Given the description of an element on the screen output the (x, y) to click on. 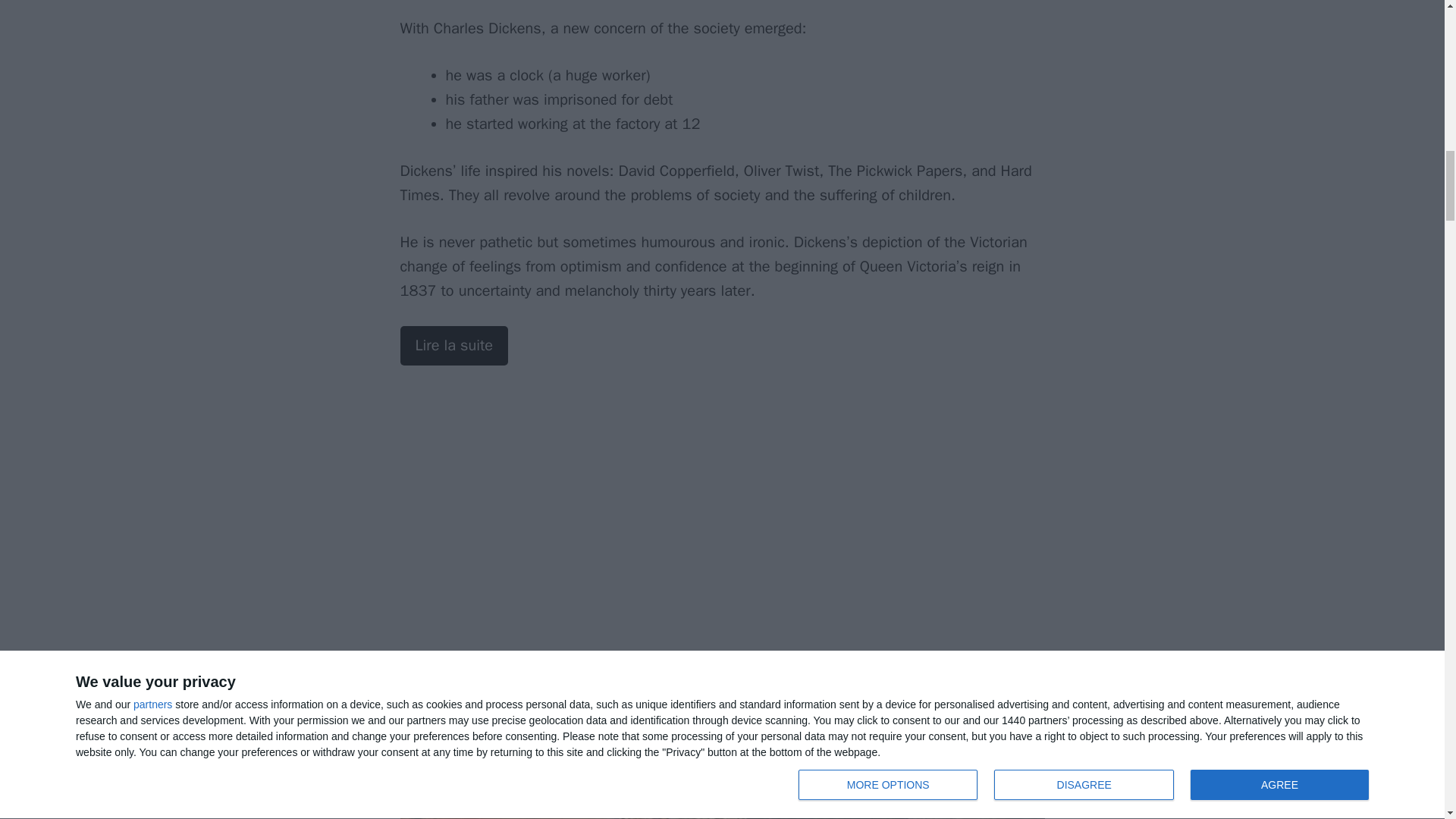
British Civilisation and Literature: 19th and 20th centuries (454, 345)
West to the Pacific (722, 760)
Lire la suite (454, 345)
